Given the description of an element on the screen output the (x, y) to click on. 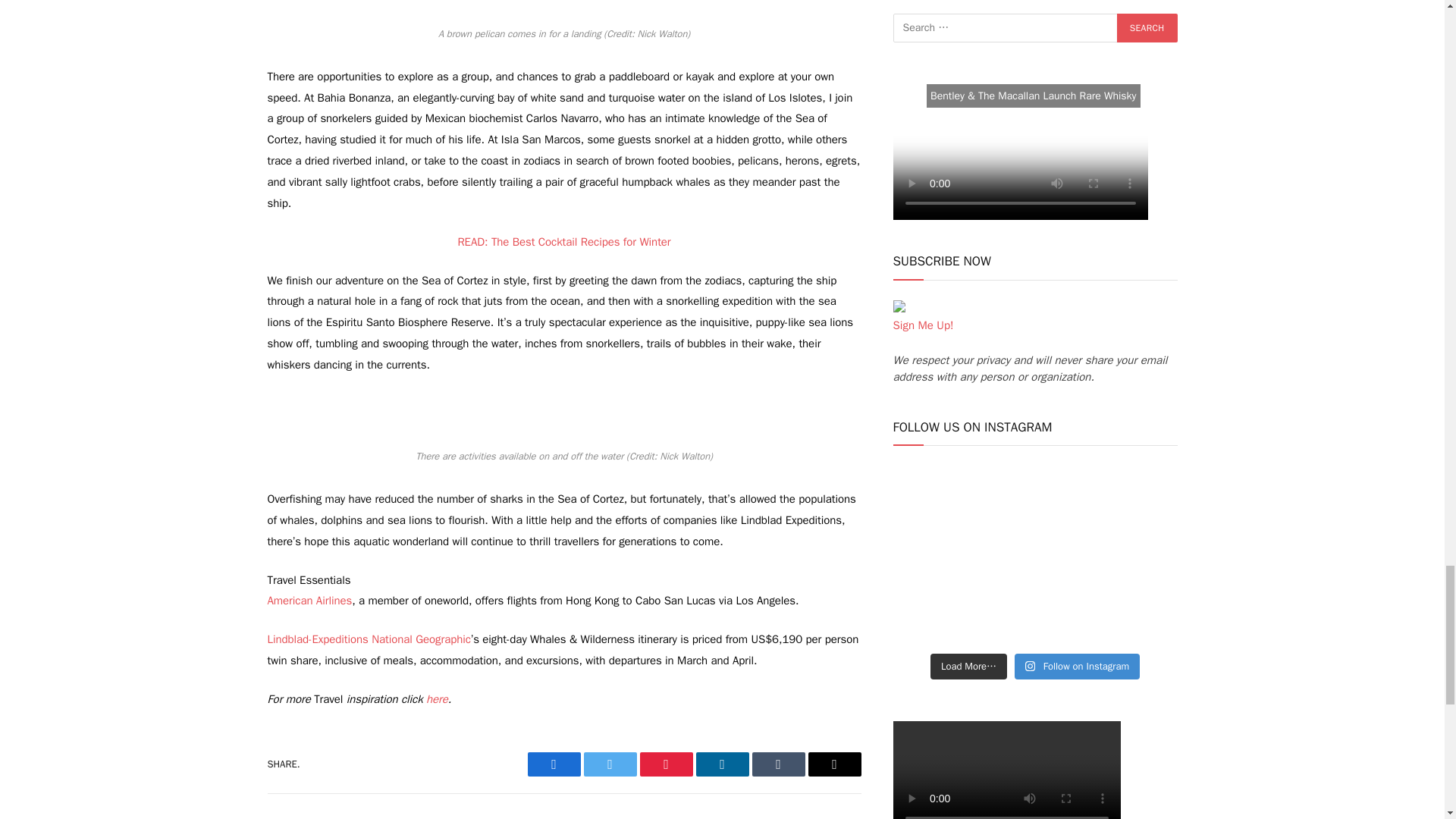
Share on Facebook (553, 764)
Share via Email (834, 764)
Share on LinkedIn (722, 764)
Share on Tumblr (778, 764)
Share on Pinterest (666, 764)
